Given the description of an element on the screen output the (x, y) to click on. 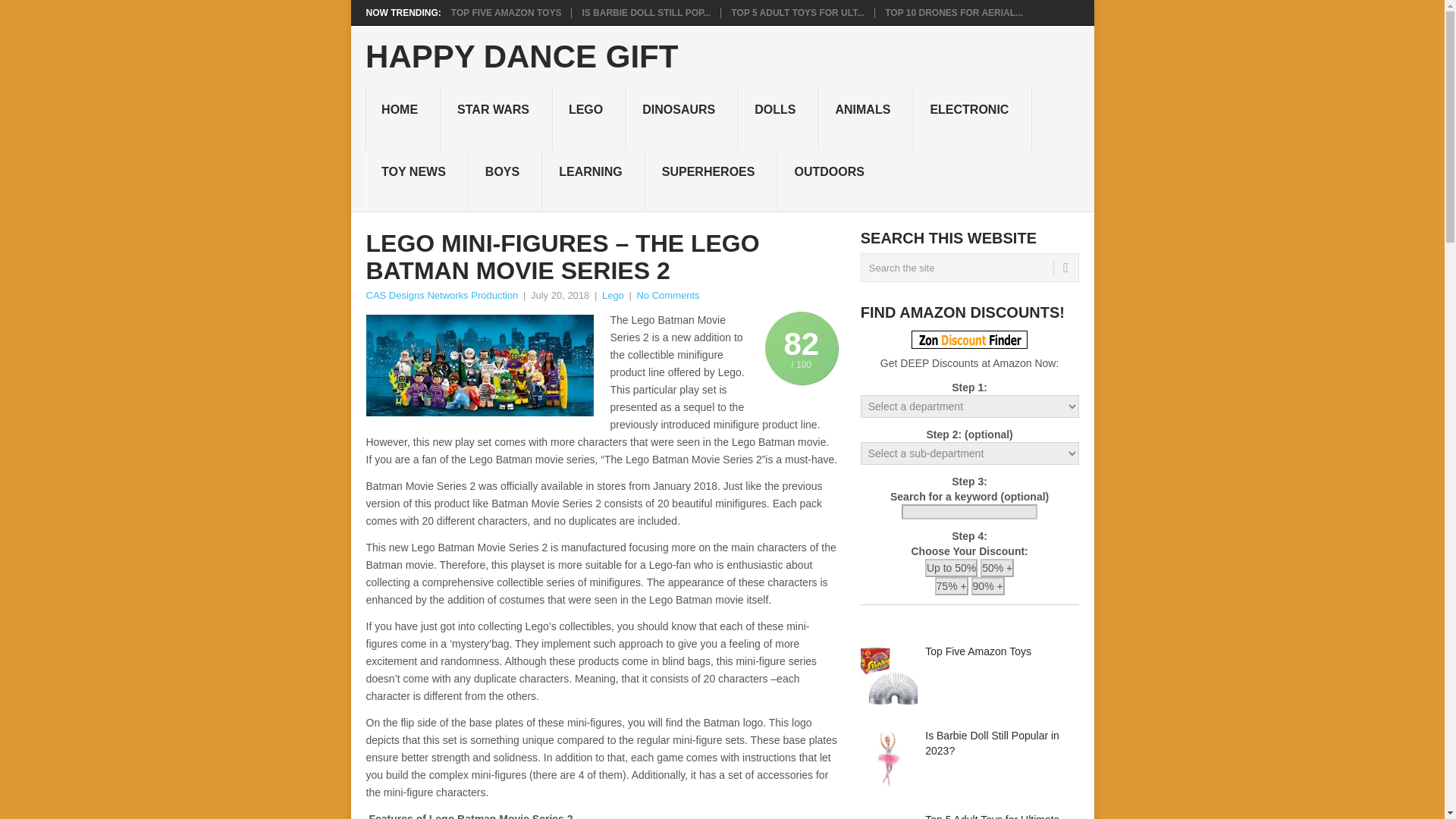
STAR WARS (497, 118)
TOY NEWS (416, 180)
Lego (613, 295)
TOP 10 DRONES FOR AERIAL... (954, 12)
Posts by CAS Designs Networks Production (441, 295)
No Comments (667, 295)
DINOSAURS (682, 118)
LEARNING (594, 180)
ANIMALS (866, 118)
LEGO (589, 118)
